Given the description of an element on the screen output the (x, y) to click on. 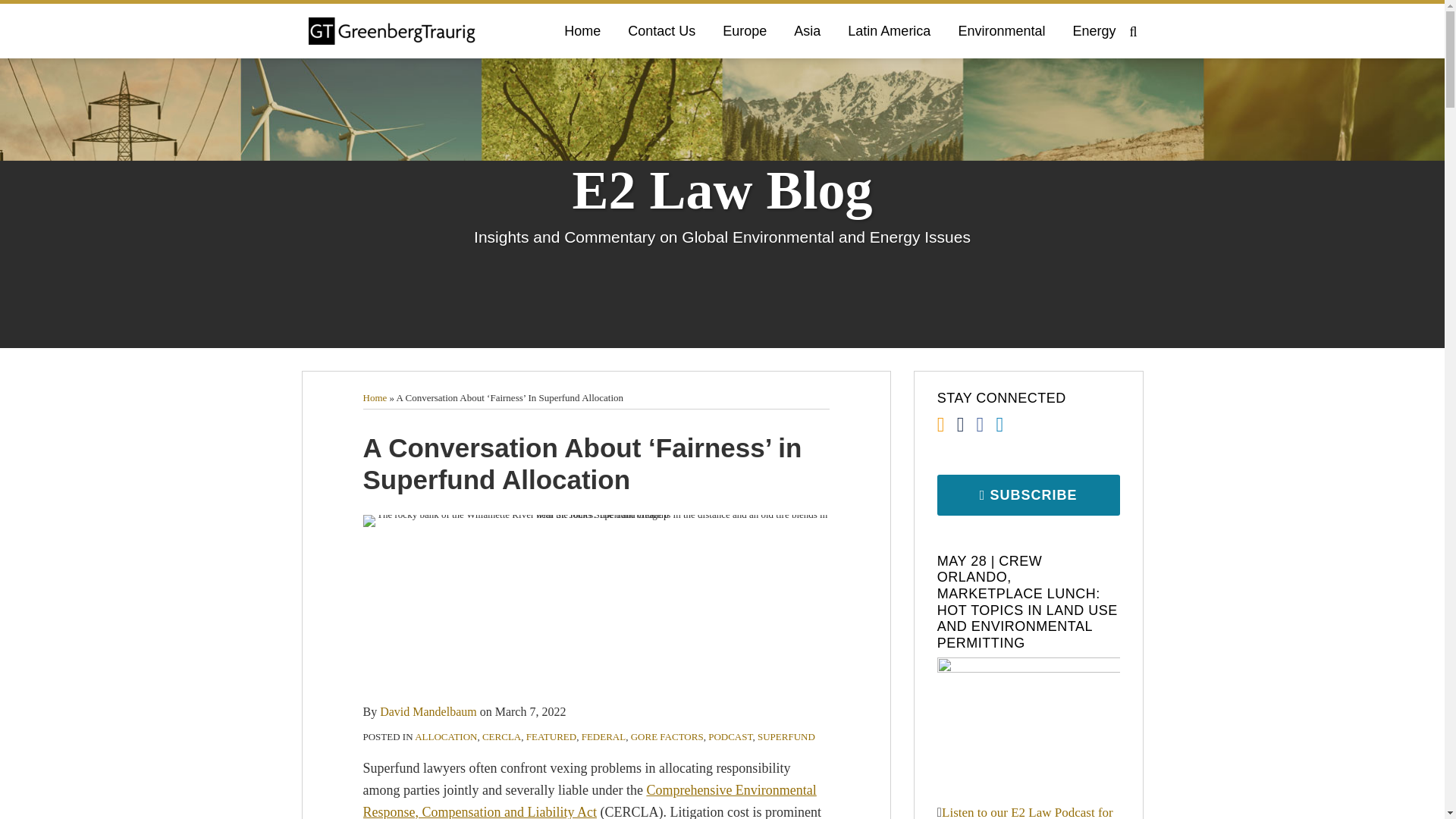
Home (374, 397)
Energy (1093, 31)
David Mandelbaum (428, 711)
Home (581, 31)
PODCAST (729, 736)
ALLOCATION (445, 736)
SUPERFUND (786, 736)
FEATURED (550, 736)
CERCLA (501, 736)
